Given the description of an element on the screen output the (x, y) to click on. 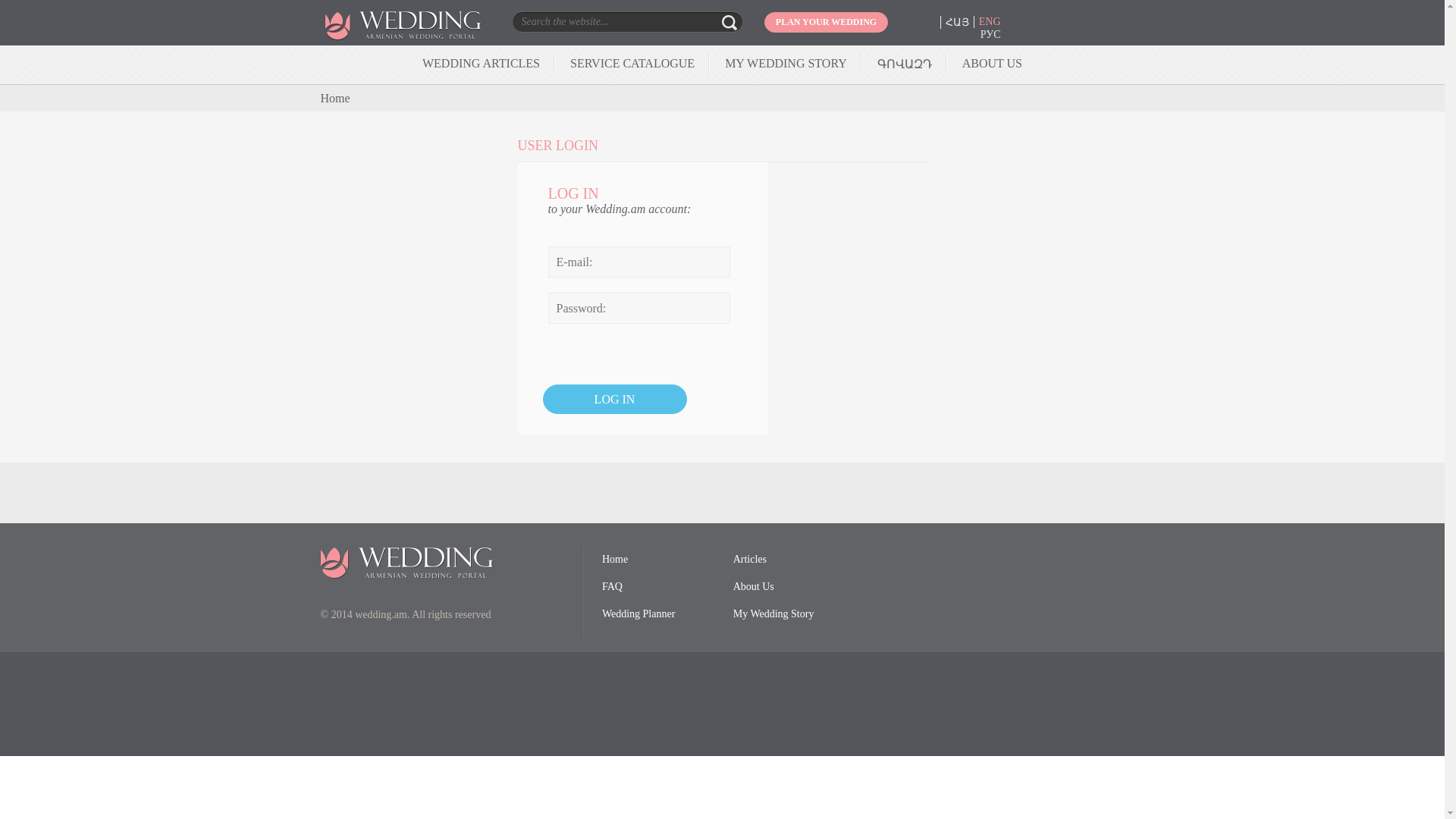
PLAN YOUR WEDDING (826, 22)
Wedding (419, 36)
WEDDING ARTICLES (480, 62)
Log in (615, 399)
SERVICE CATALOGUE (632, 62)
Enter the terms you wish to search for. (600, 21)
ENG (989, 21)
